Given the description of an element on the screen output the (x, y) to click on. 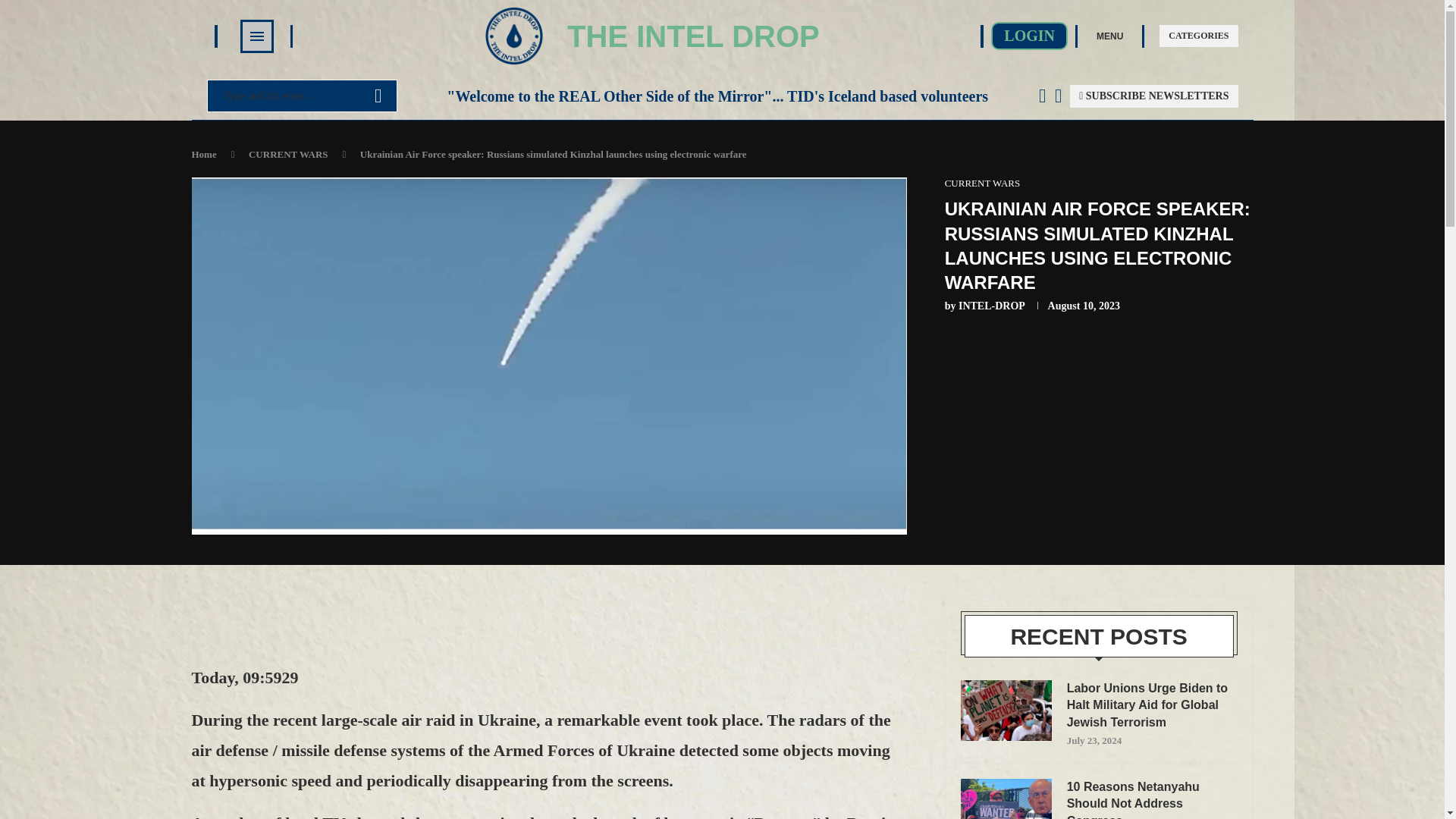
CATEGORIES (1197, 35)
CURRENT WARS (288, 153)
THE INTEL DROP (693, 36)
Home (202, 153)
LOGIN (1029, 35)
SUBSCRIBE NEWSLETTERS (1153, 96)
MENU (1109, 35)
